Given the description of an element on the screen output the (x, y) to click on. 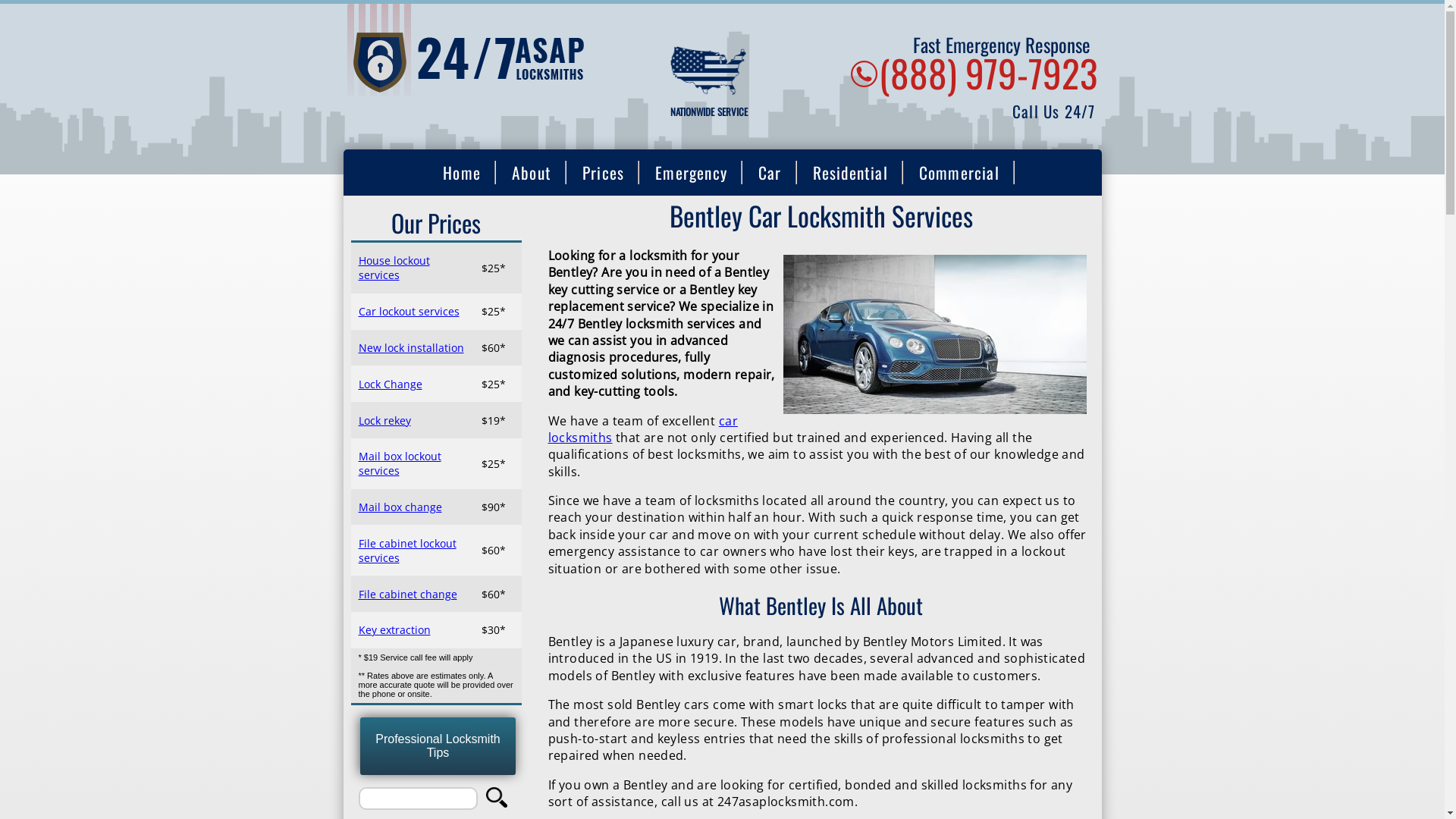
New lock installation Element type: text (410, 347)
Mail box lockout services Element type: text (398, 462)
Car lockout services Element type: text (407, 311)
House lockout services Element type: text (393, 267)
Lock rekey Element type: text (383, 420)
Home Element type: text (461, 174)
Search Element type: text (501, 799)
car locksmiths Element type: text (642, 428)
Commercial Element type: text (959, 174)
Car Element type: text (769, 174)
Home Element type: hover (484, 59)
Key extraction Element type: text (393, 629)
Click to return to the Homepage Element type: hover (484, 111)
(888) 979-7923 Element type: text (987, 72)
About Element type: text (531, 174)
Professional Locksmith Tips Element type: text (437, 746)
Enter the terms you wish to search for. Element type: hover (417, 798)
Emergency Element type: text (690, 174)
File cabinet lockout services Element type: text (406, 550)
Mail box change Element type: text (399, 506)
File cabinet change Element type: text (406, 593)
Residential Element type: text (850, 174)
Prices Element type: text (602, 174)
Lock Change Element type: text (389, 383)
bentley car locksmith near me Element type: hover (933, 334)
